Given the description of an element on the screen output the (x, y) to click on. 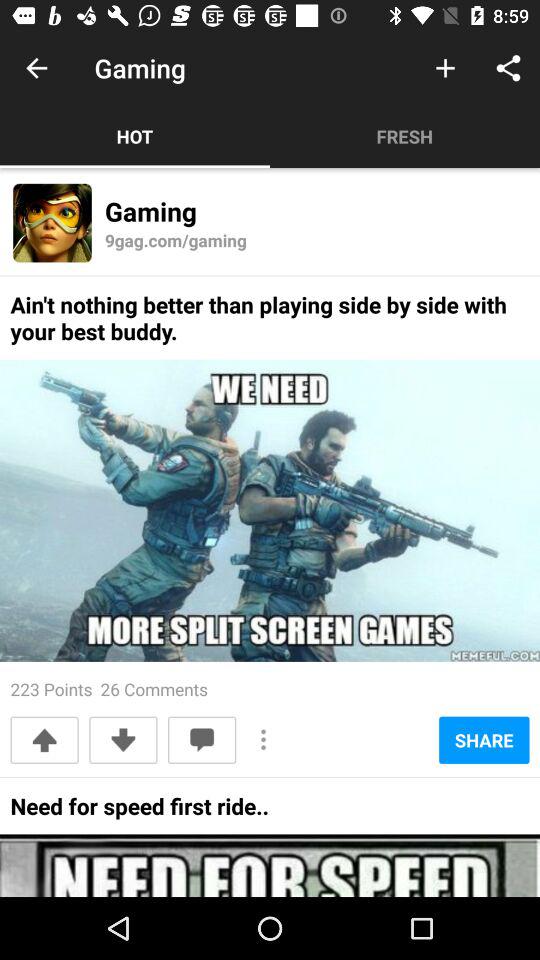
jump until 223 points 	26 (109, 688)
